Given the description of an element on the screen output the (x, y) to click on. 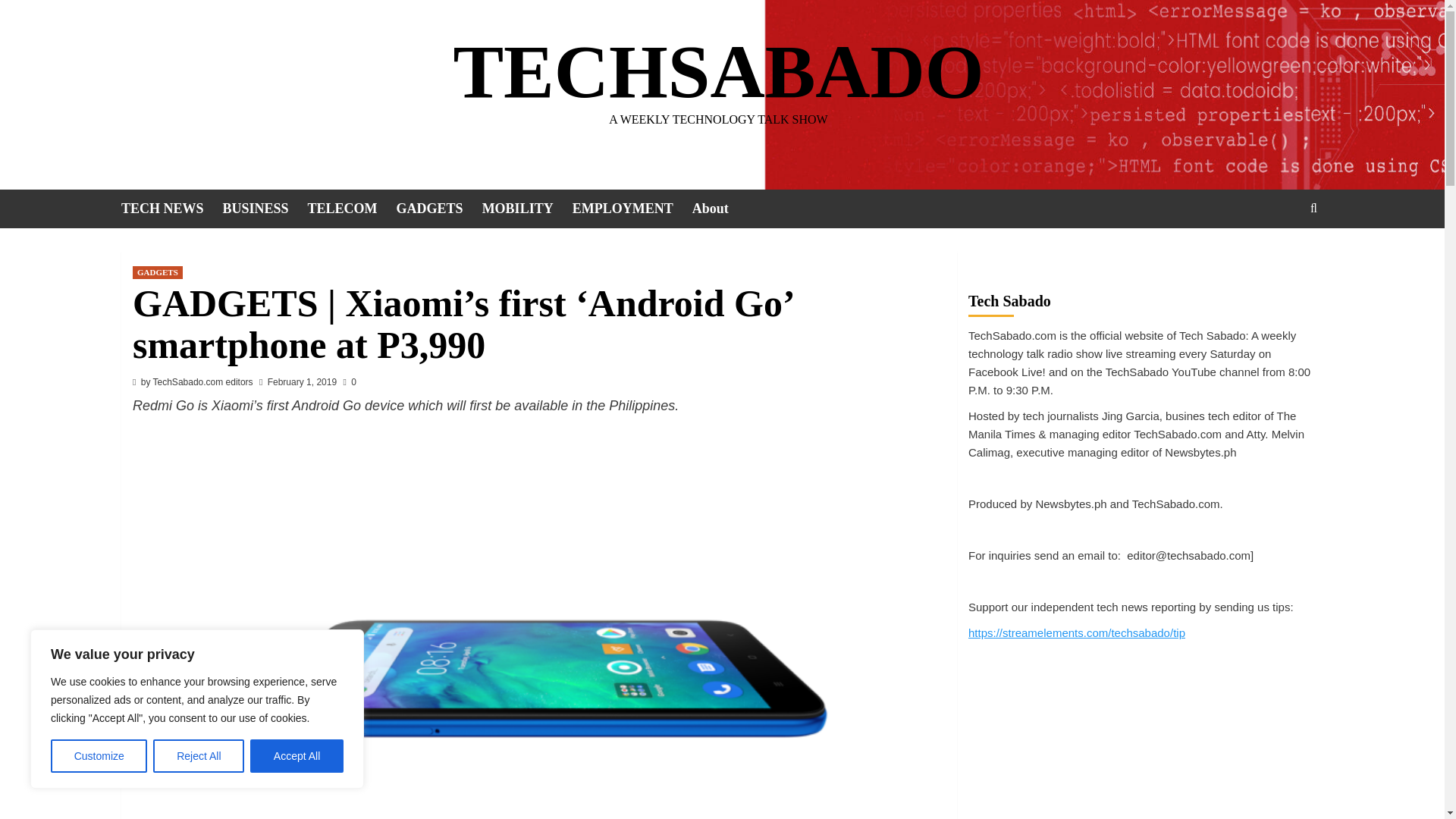
GADGETS (157, 272)
TECHSABADO (718, 71)
Accept All (296, 756)
Reject All (198, 756)
TELECOM (351, 208)
TECH NEWS (171, 208)
by TechSabado.com editors (197, 381)
Search (1278, 254)
BUSINESS (264, 208)
Customize (98, 756)
MOBILITY (526, 208)
EMPLOYMENT (632, 208)
February 1, 2019 (301, 381)
0 (348, 381)
About (720, 208)
